Given the description of an element on the screen output the (x, y) to click on. 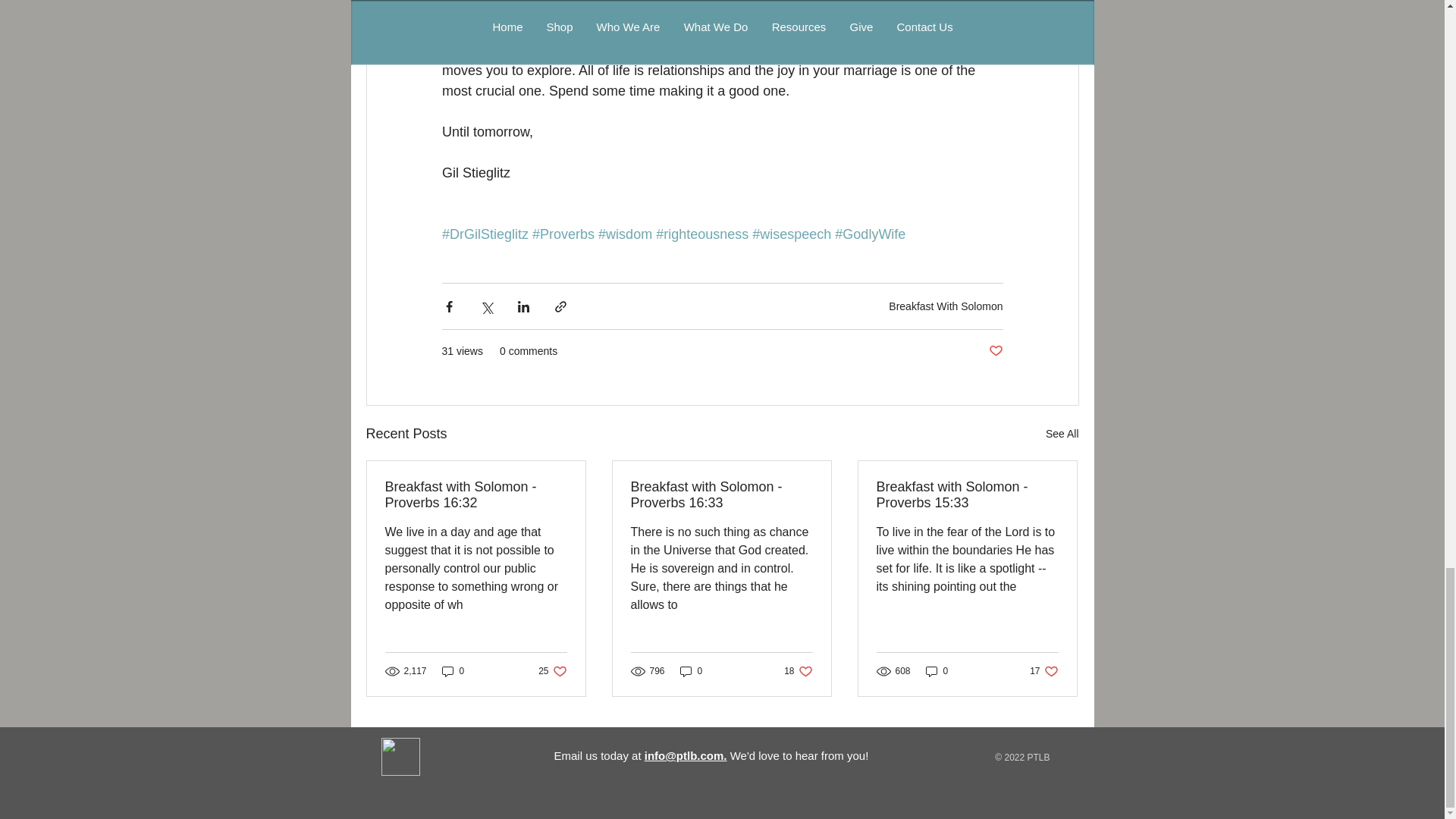
Facebook Like (452, 759)
Facebook-icon-2.png (399, 756)
